Given the description of an element on the screen output the (x, y) to click on. 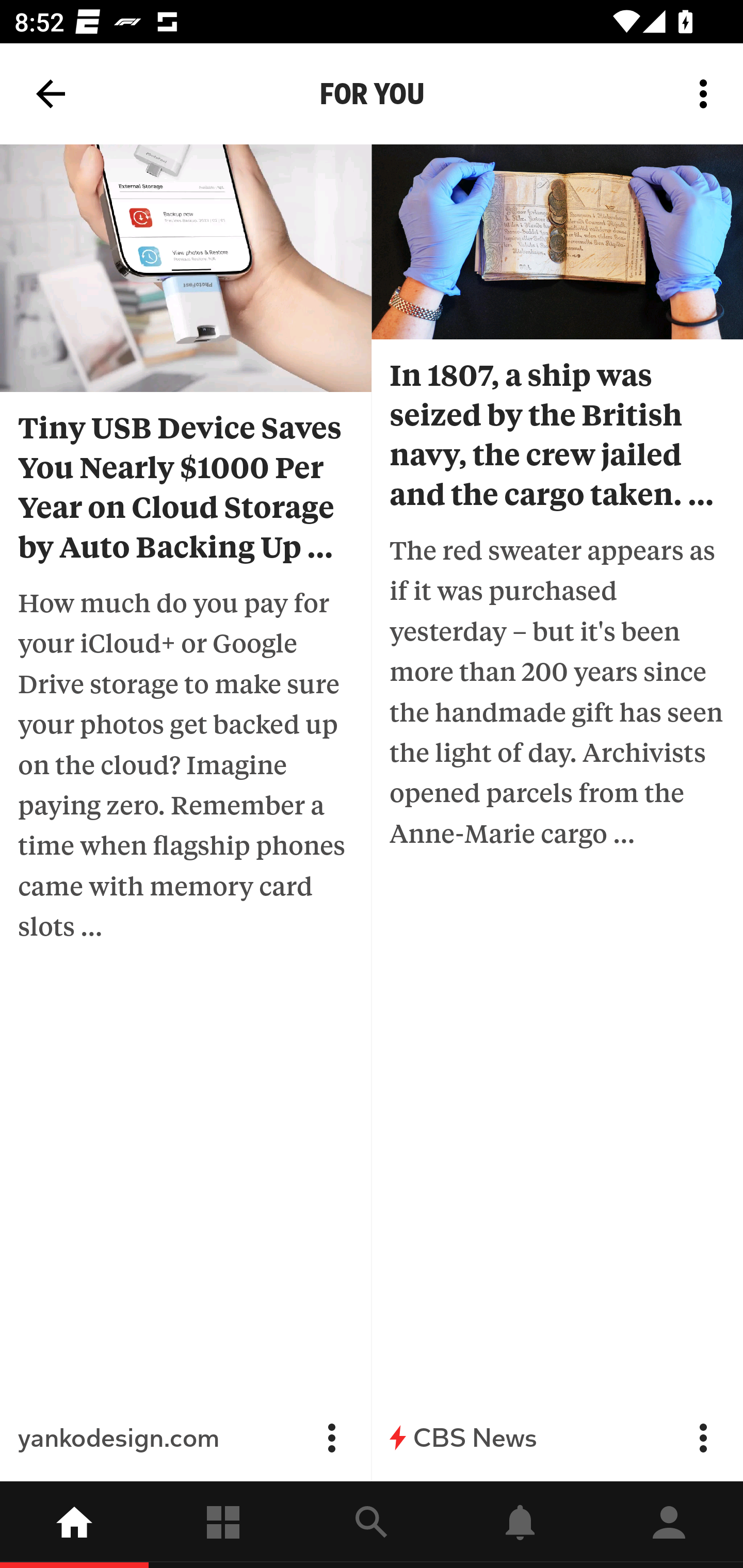
Back (50, 93)
FOR YOU (371, 93)
More options (706, 93)
yankodesign.com Flip into Magazine (185, 1437)
CBS News Flip into Magazine (557, 1437)
Flip into Magazine (331, 1437)
Flip into Magazine (703, 1437)
home (74, 1524)
Following (222, 1524)
explore (371, 1524)
Notifications (519, 1524)
Profile (668, 1524)
